Given the description of an element on the screen output the (x, y) to click on. 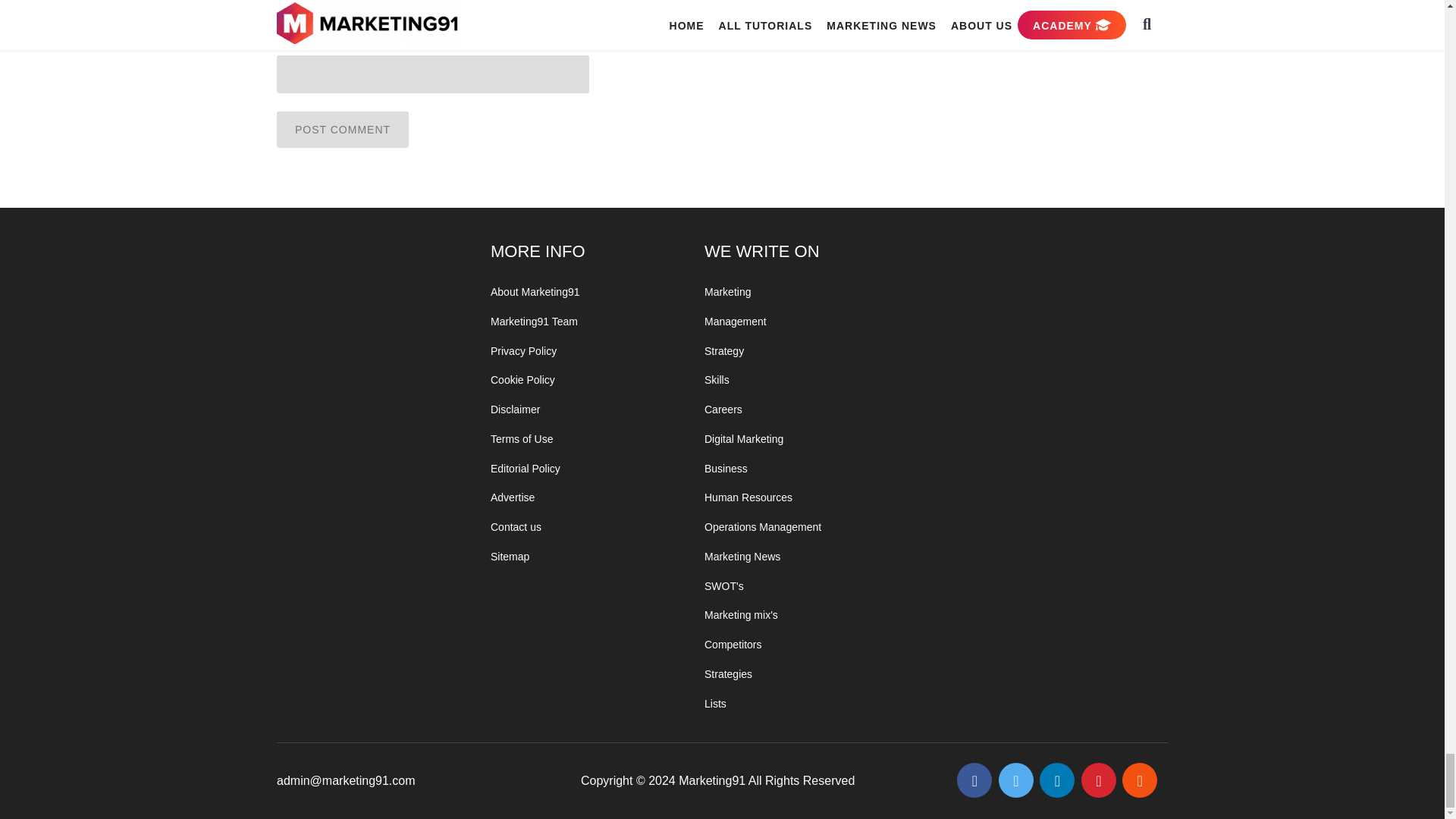
Post Comment (342, 129)
